Given the description of an element on the screen output the (x, y) to click on. 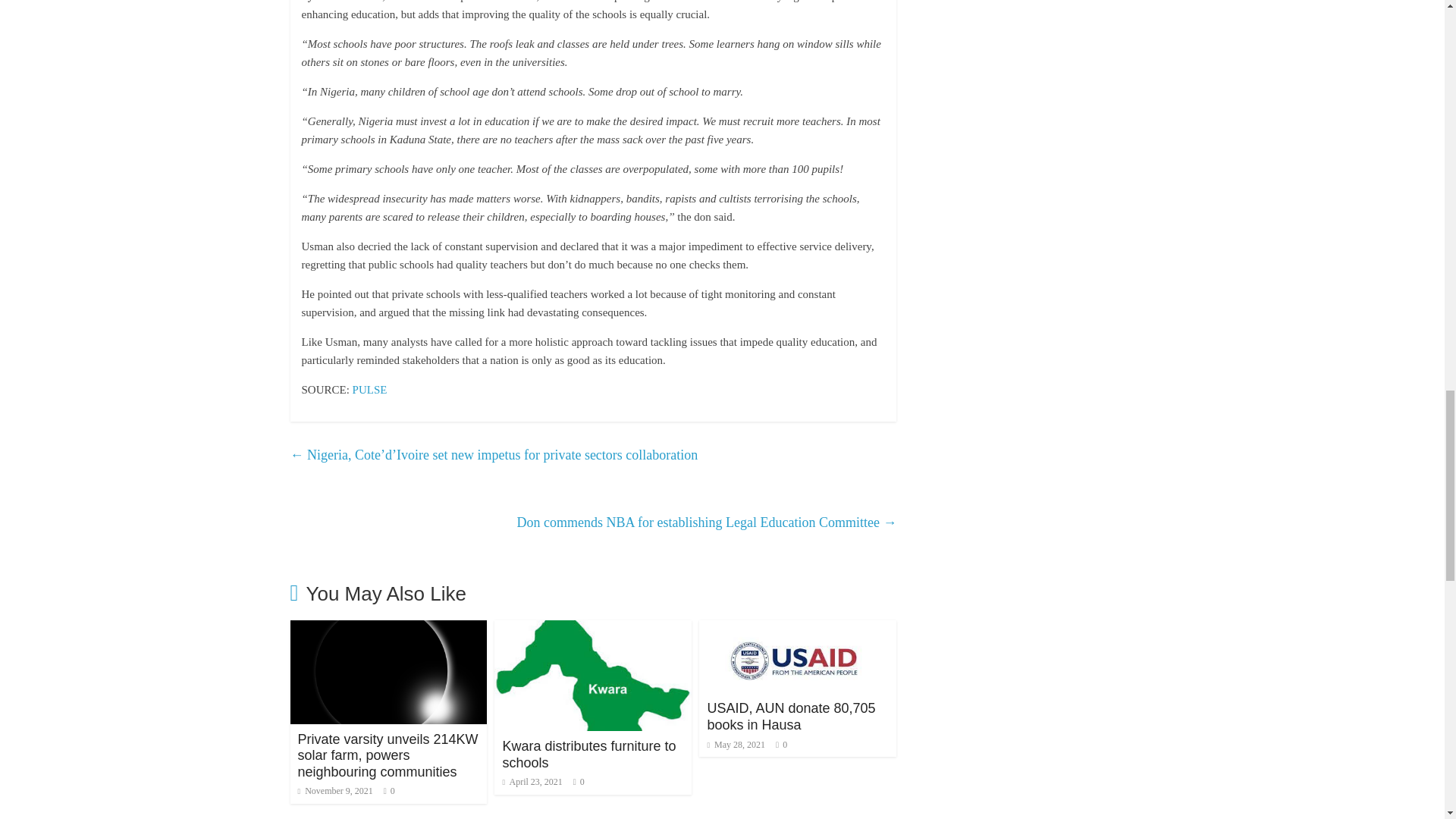
10:17 am (334, 790)
Kwara distributes furniture to schools (588, 754)
Kwara distributes furniture to schools (593, 629)
November 9, 2021 (334, 790)
PULSE (369, 389)
April 23, 2021 (532, 781)
